Given the description of an element on the screen output the (x, y) to click on. 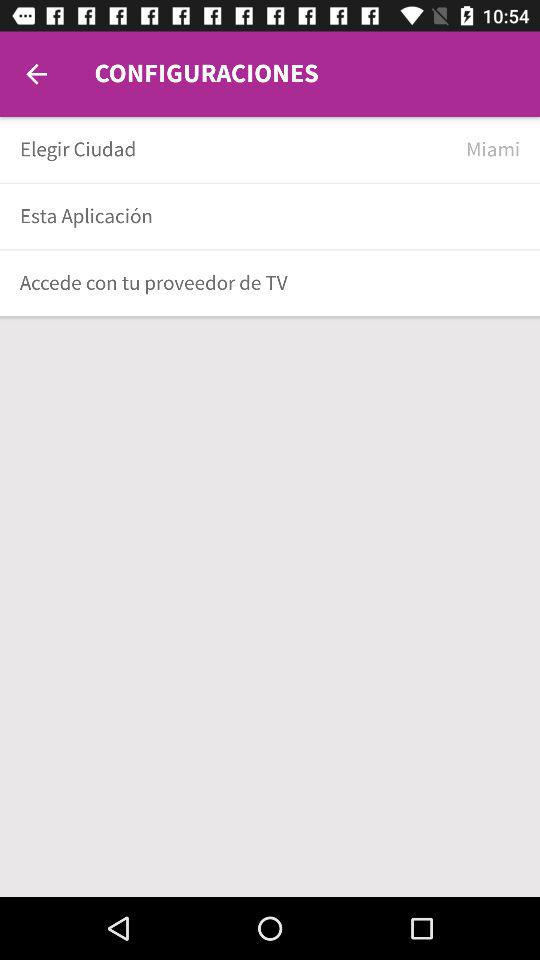
click icon next to miami icon (235, 149)
